Given the description of an element on the screen output the (x, y) to click on. 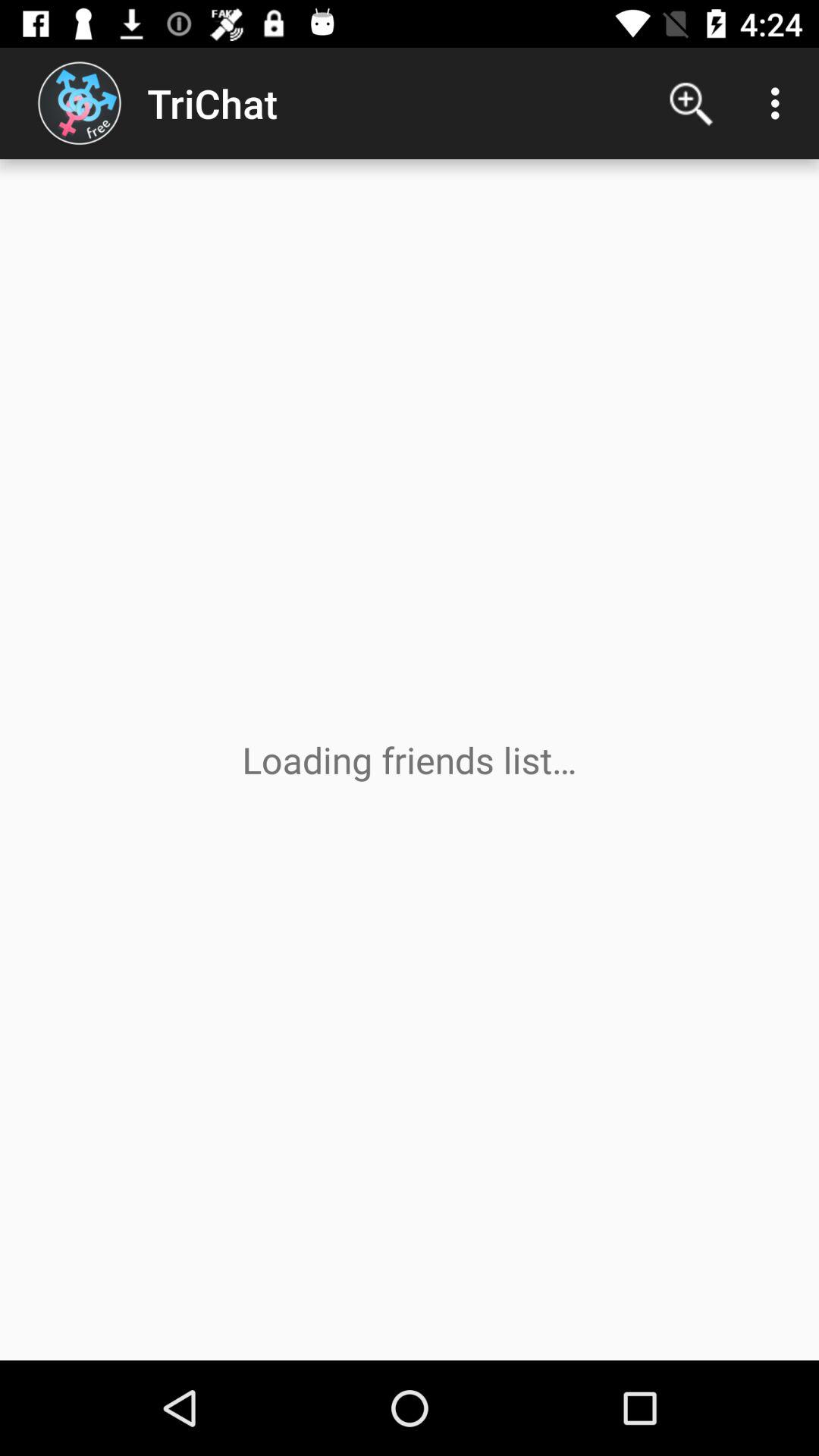
press app to the right of trichat item (691, 103)
